Given the description of an element on the screen output the (x, y) to click on. 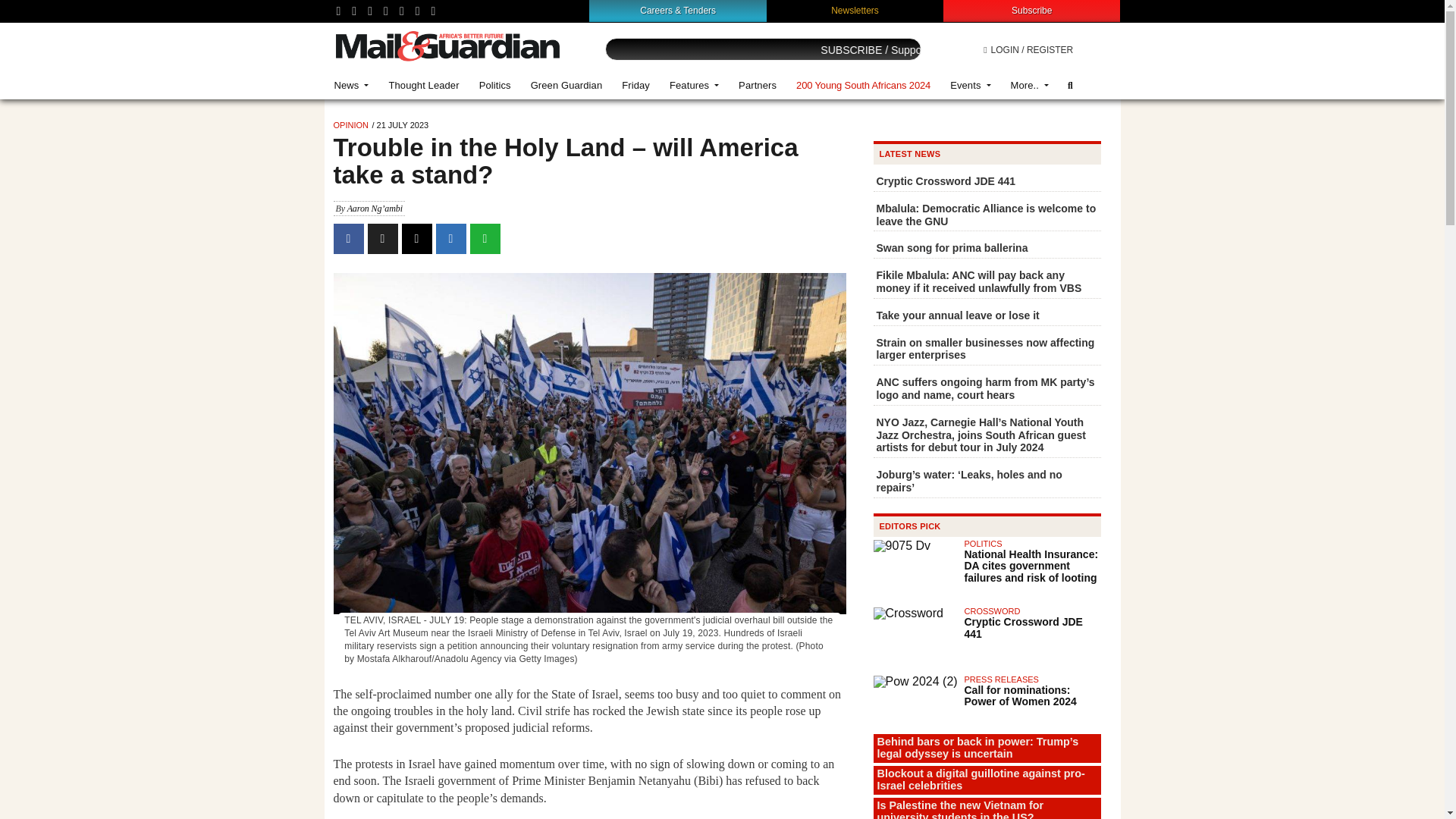
Newsletters (855, 9)
Subscribe (1031, 9)
Features (694, 85)
Green Guardian (566, 85)
News (351, 85)
News (351, 85)
Thought Leader (423, 85)
Friday (635, 85)
Politics (494, 85)
